Given the description of an element on the screen output the (x, y) to click on. 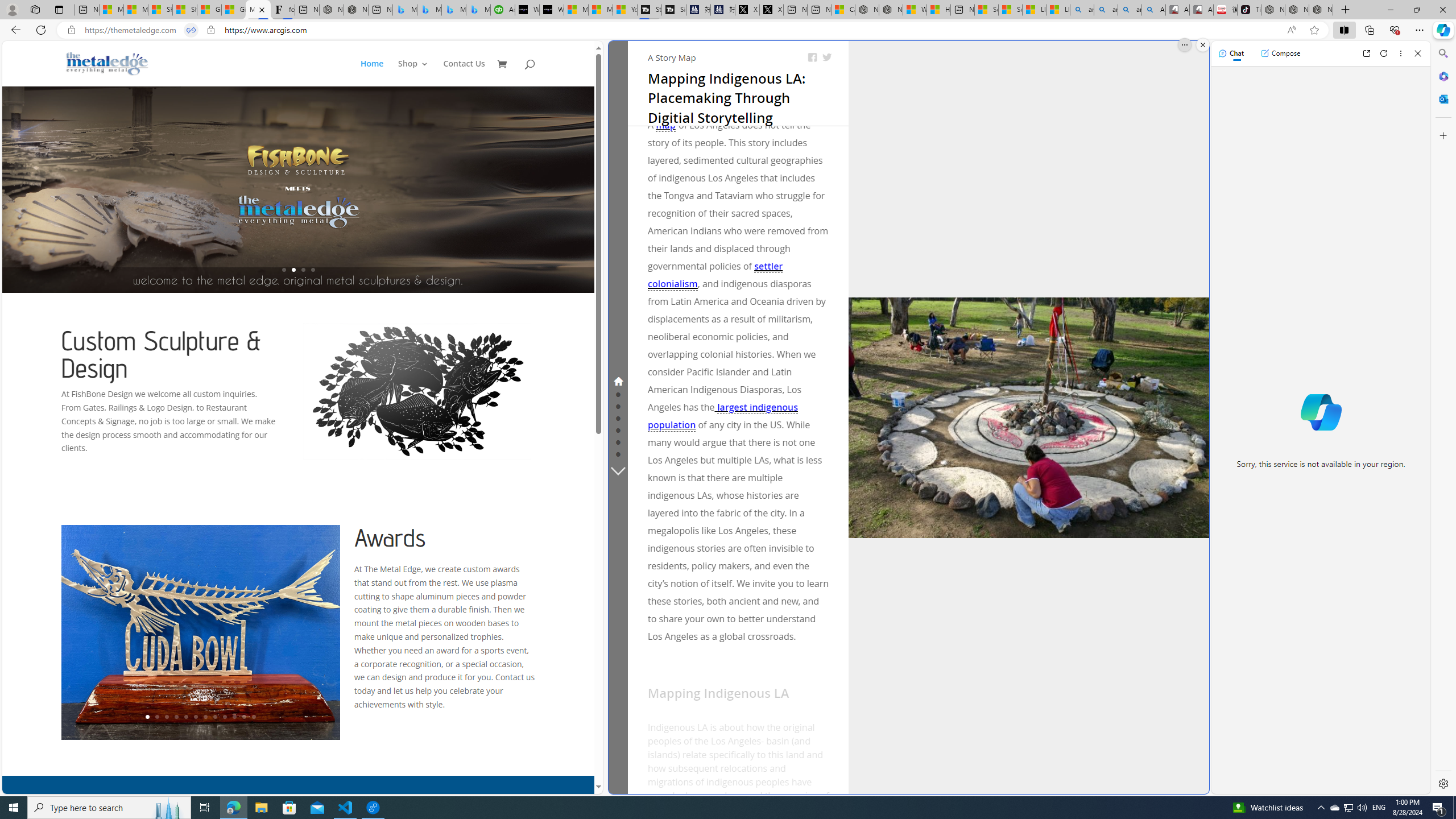
Share on Twitter (826, 57)
amazon - Search Images (1129, 9)
Nordace - Siena Pro 15 Essential Set (1321, 9)
map (665, 125)
Send keyboard focus to media (738, 708)
Metal Fish Sculptures & Metal Designs (106, 63)
Compose (1280, 52)
Go to section 3: Gabrielino/Tongva  (617, 405)
